Given the description of an element on the screen output the (x, y) to click on. 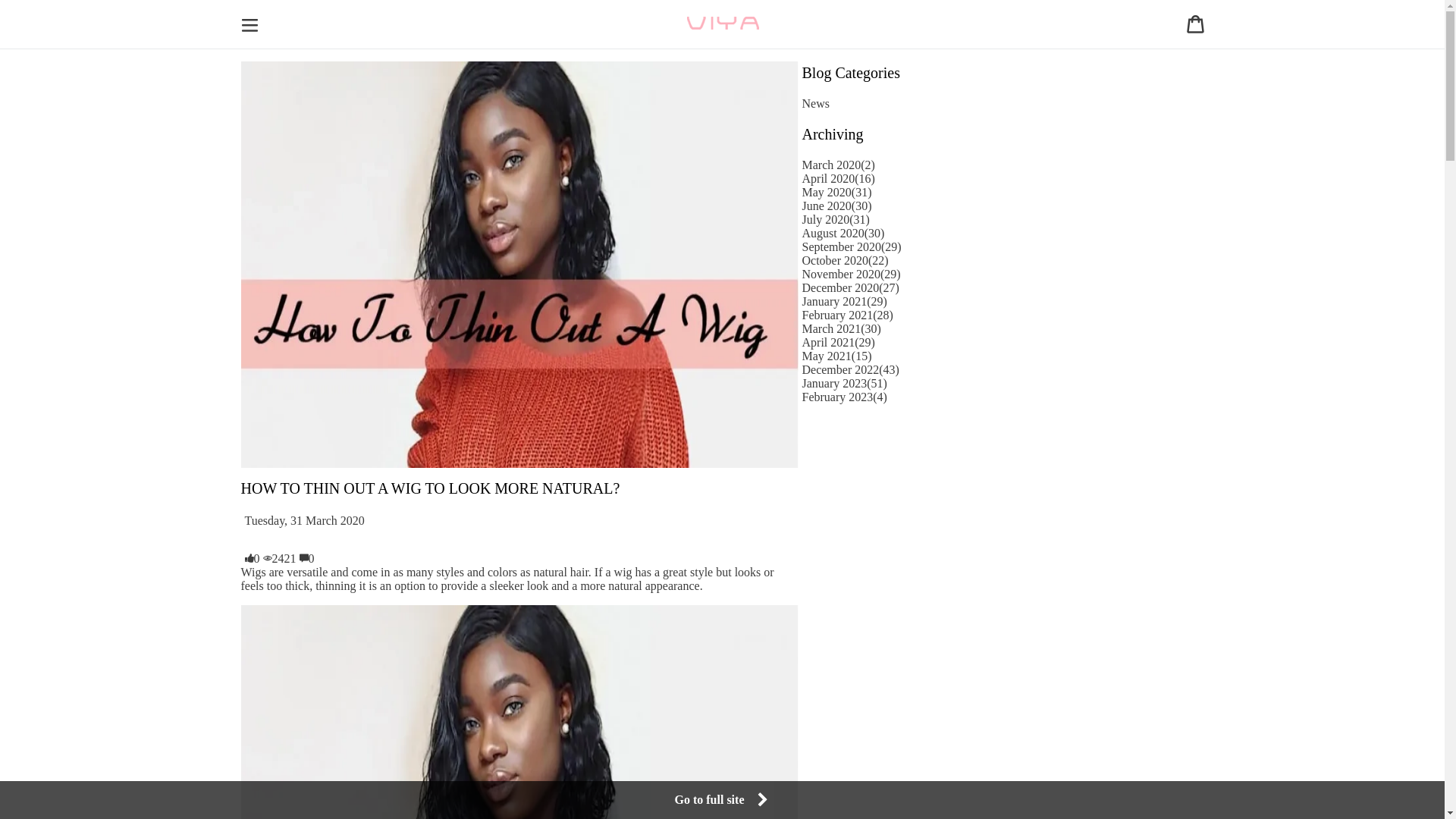
News (815, 103)
